Given the description of an element on the screen output the (x, y) to click on. 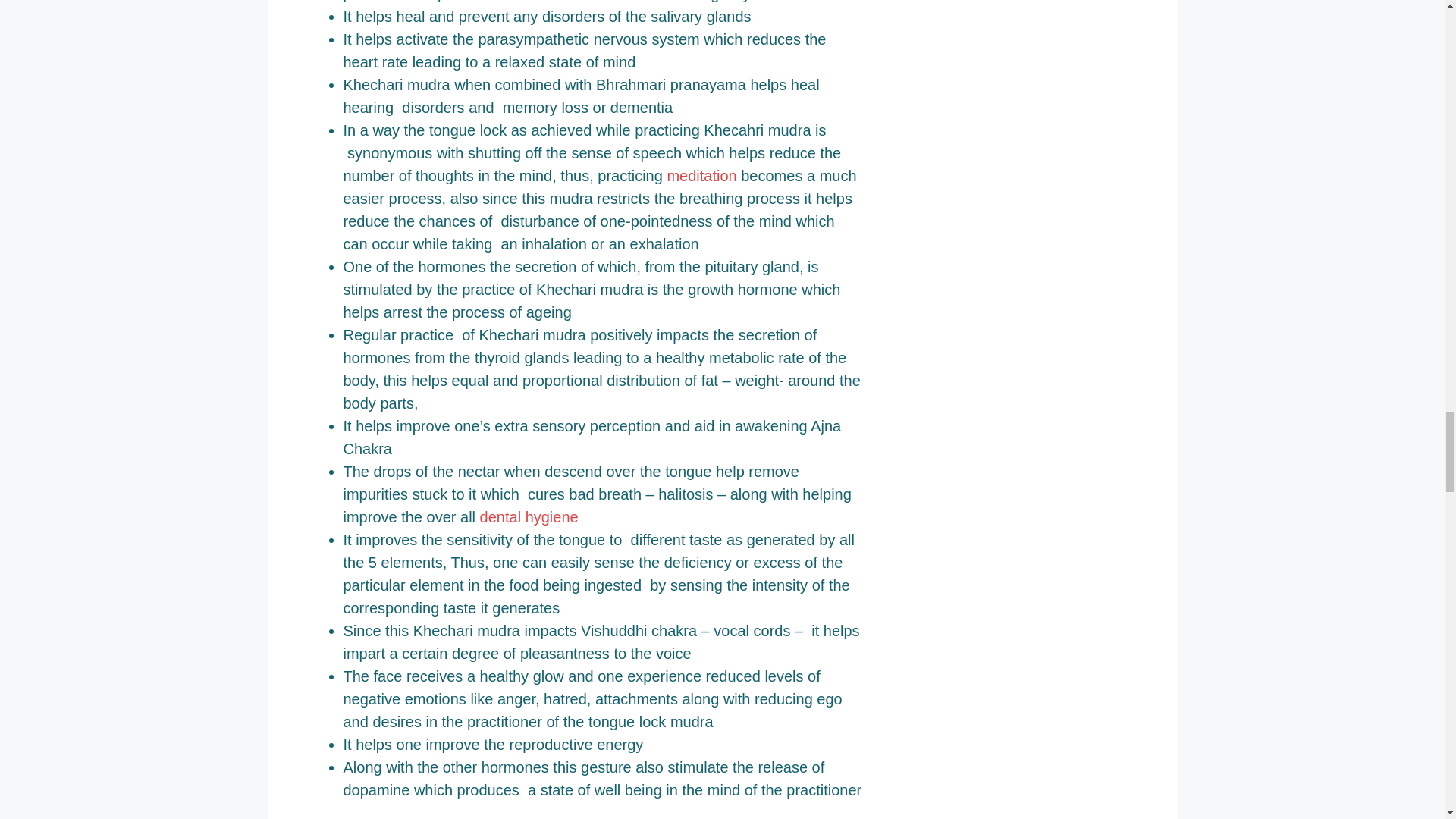
dental hygiene (529, 516)
meditation (701, 175)
